Given the description of an element on the screen output the (x, y) to click on. 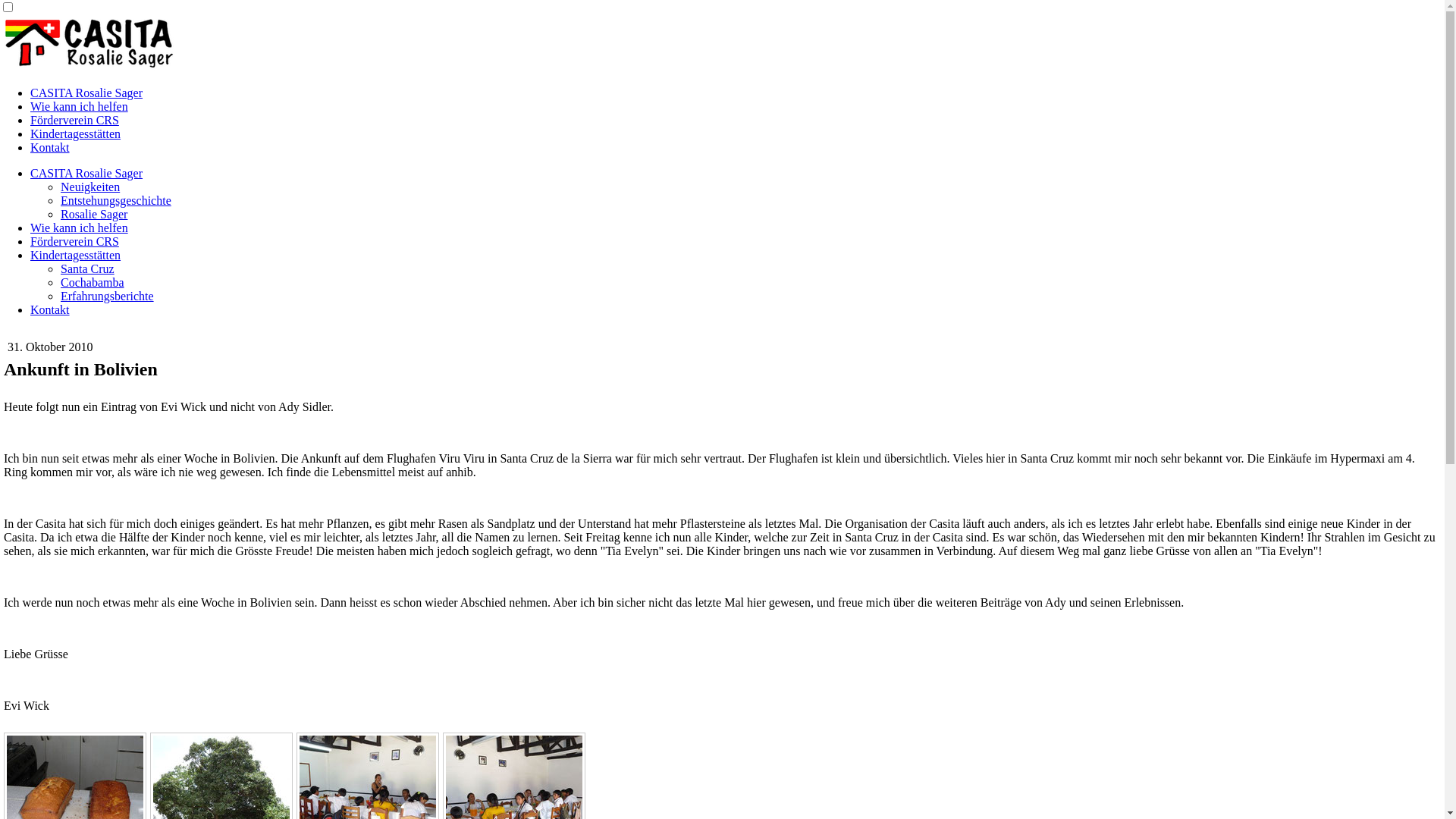
Cochabamba Element type: text (92, 282)
CASITA Rosalie Sager Element type: text (86, 92)
Wie kann ich helfen Element type: text (79, 106)
Wie kann ich helfen Element type: text (79, 227)
Neuigkeiten Element type: text (89, 186)
Santa Cruz Element type: text (87, 268)
Entstehungsgeschichte Element type: text (115, 200)
Kontakt Element type: text (49, 147)
Rosalie Sager Element type: text (93, 213)
Erfahrungsberichte Element type: text (106, 295)
CASITA Rosalie Sager Element type: text (86, 172)
Kontakt Element type: text (49, 309)
